Given the description of an element on the screen output the (x, y) to click on. 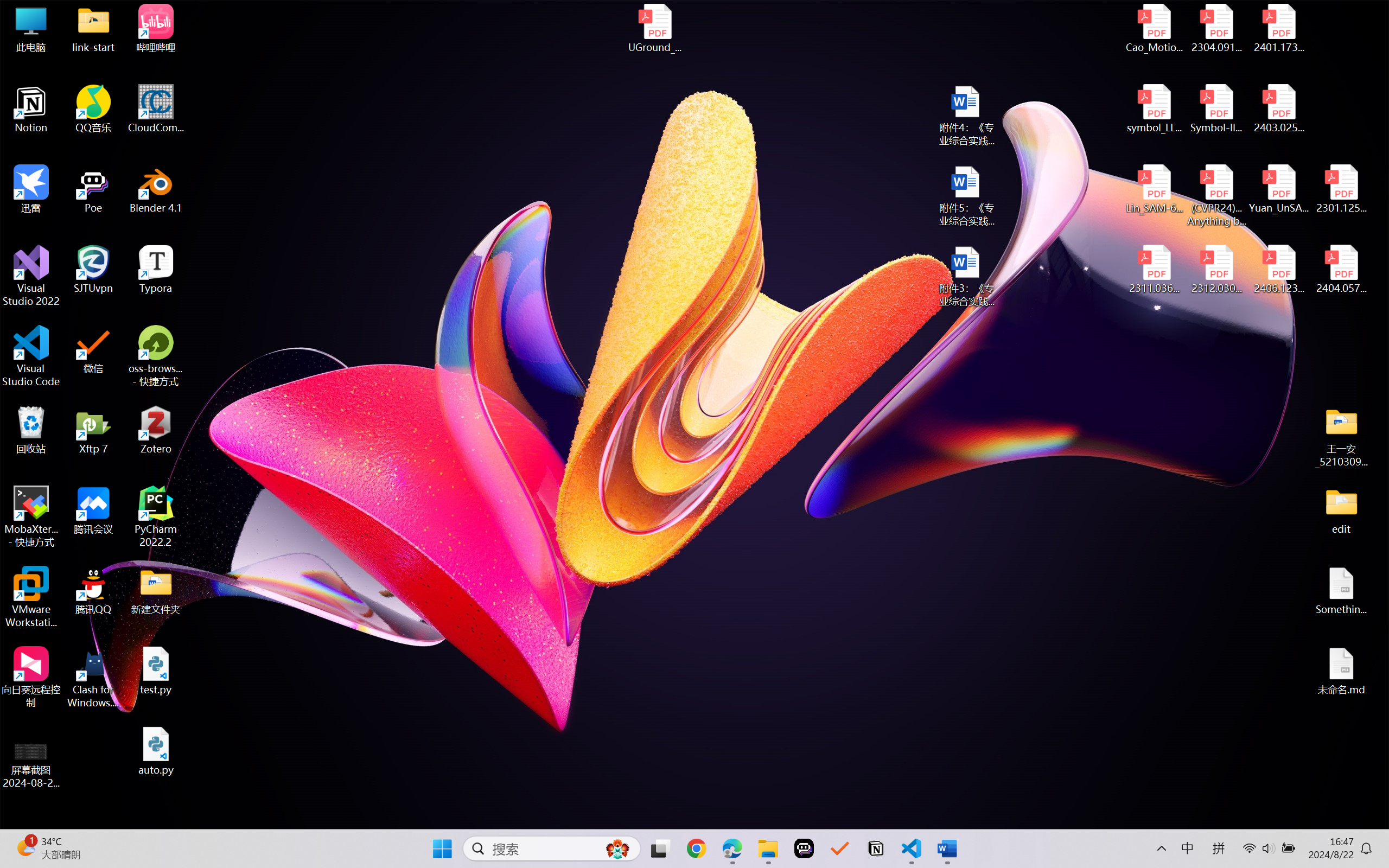
Page 1 content (686, 477)
Pen: Red, 0.5 mm (191, 94)
Sourcery, Manage Sourcery settings (425, 816)
